Given the description of an element on the screen output the (x, y) to click on. 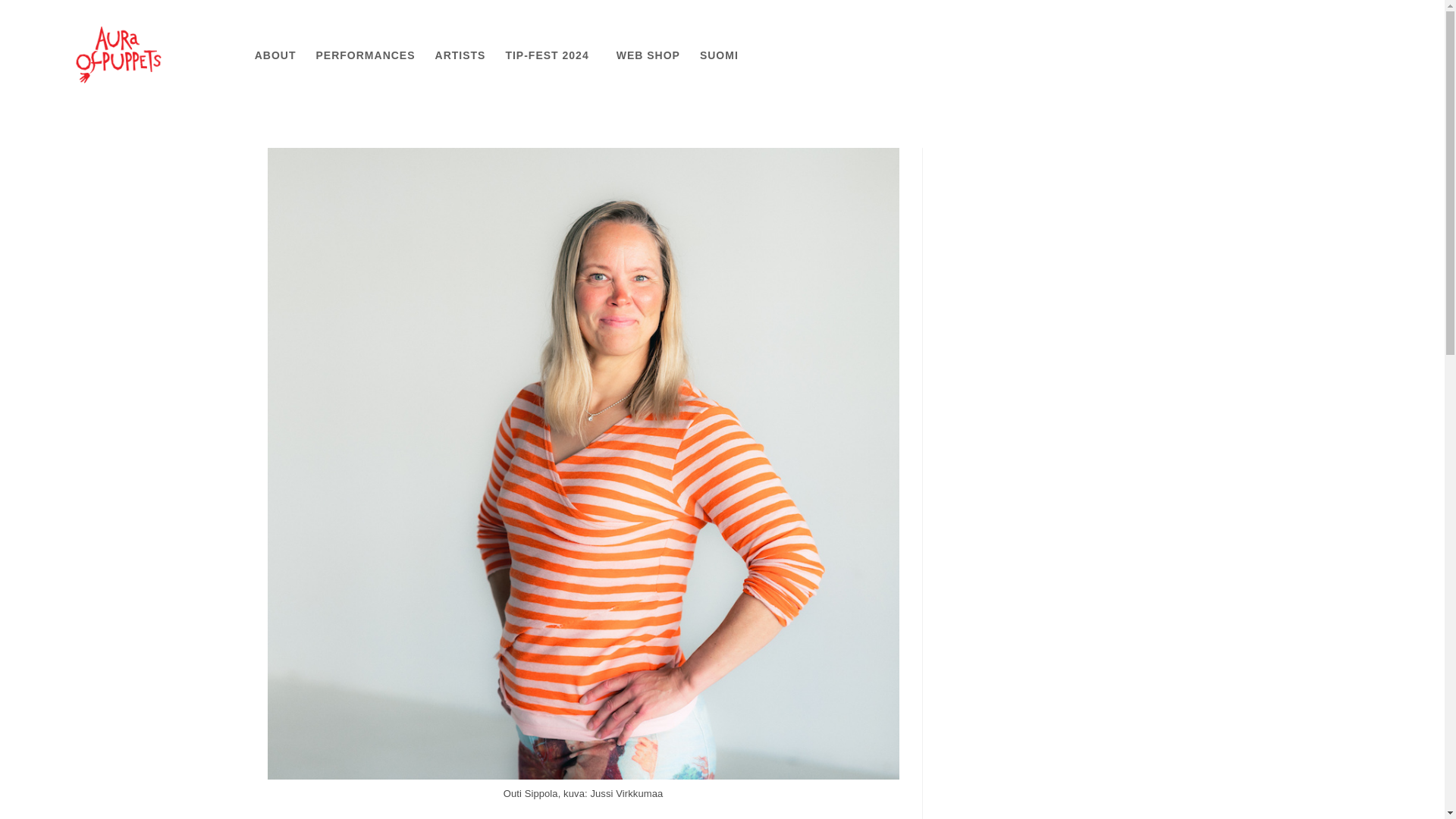
SUOMI (719, 55)
PERFORMANCES (365, 55)
WEB SHOP (648, 55)
Suomi (719, 55)
ABOUT (274, 55)
TIP-FEST 2024 (550, 55)
ARTISTS (460, 55)
